Given the description of an element on the screen output the (x, y) to click on. 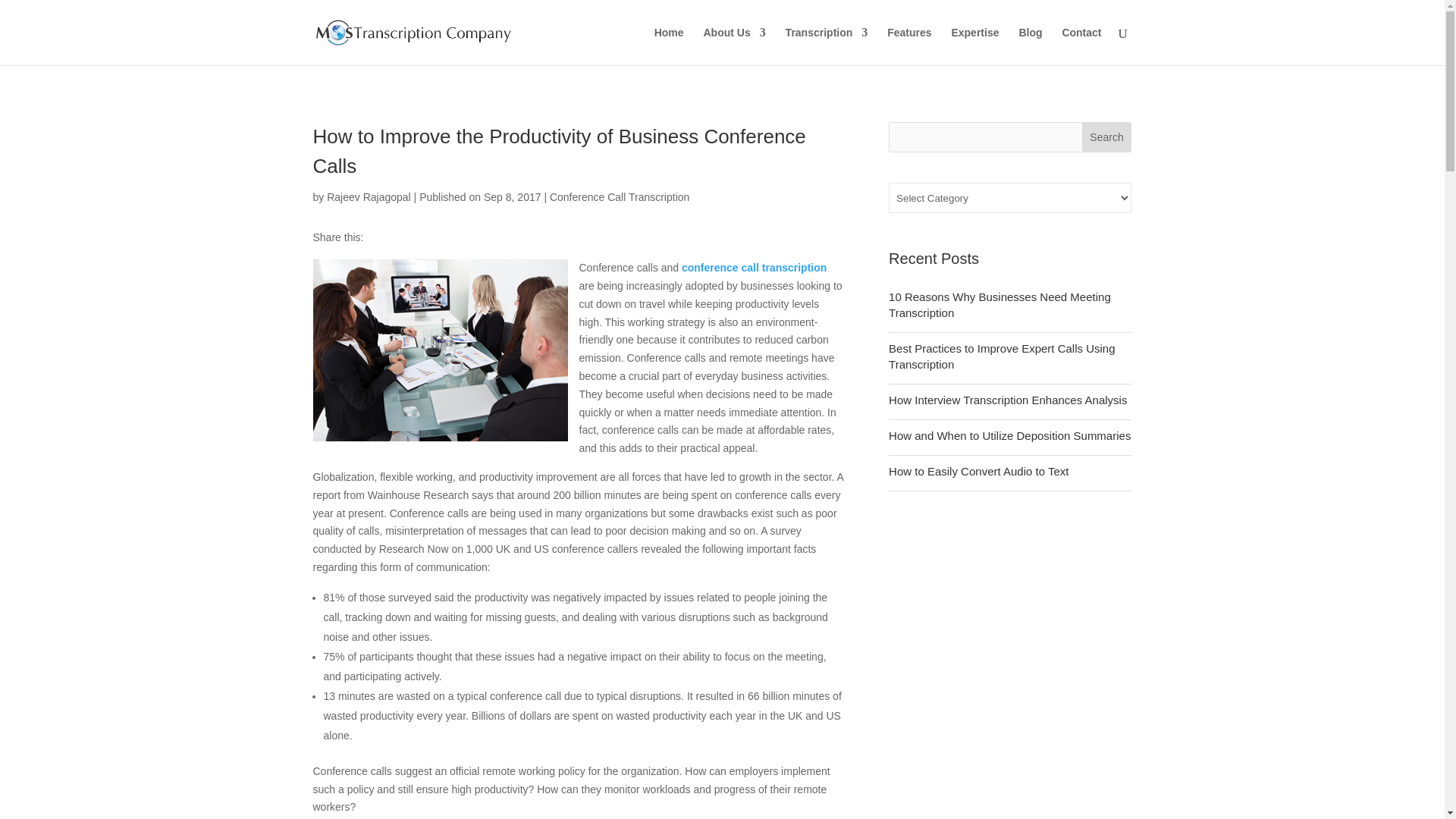
How to Improve the Productivity of Business Conference Calls (440, 350)
About Us (734, 46)
Conference Call Transcription (754, 267)
Posts by Rajeev Rajagopal (368, 196)
Transcription (826, 46)
